Given the description of an element on the screen output the (x, y) to click on. 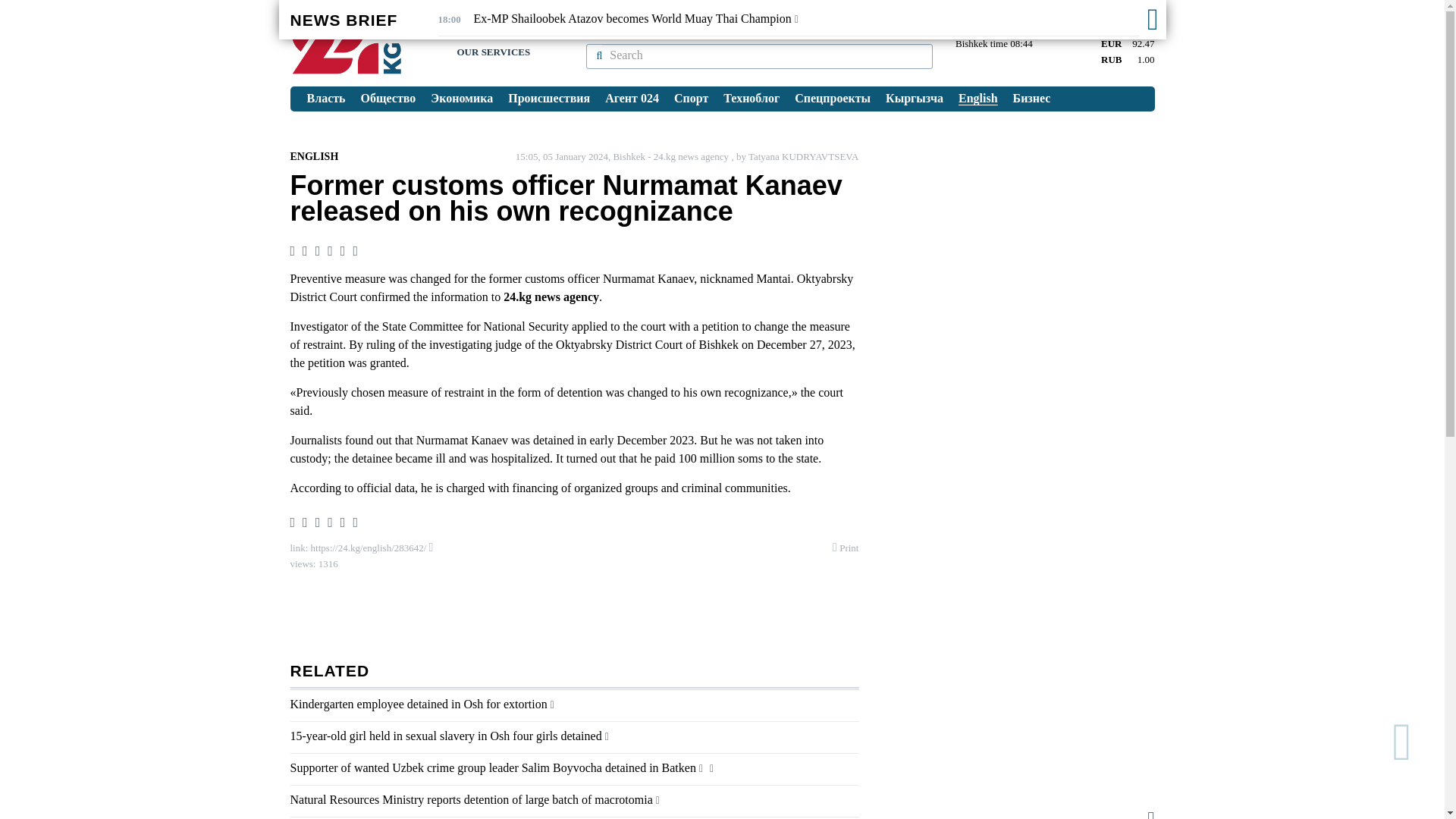
OUR SERVICES (493, 51)
ENGLISH (313, 156)
English (978, 98)
